Given the description of an element on the screen output the (x, y) to click on. 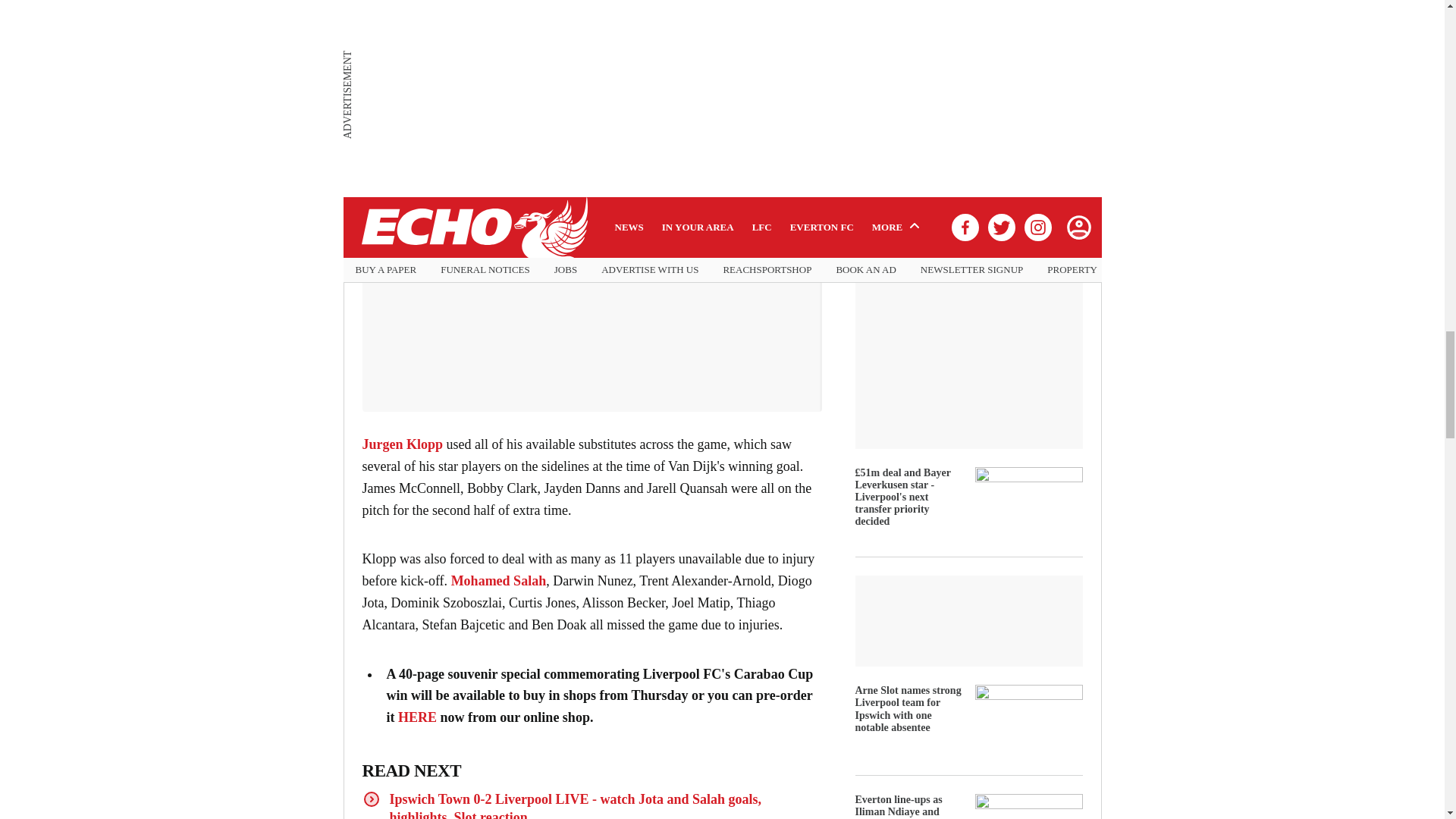
Jurgen Klopp (403, 444)
HERE (416, 717)
Read Next Article Icon (371, 799)
Mohamed Salah (499, 580)
